Given the description of an element on the screen output the (x, y) to click on. 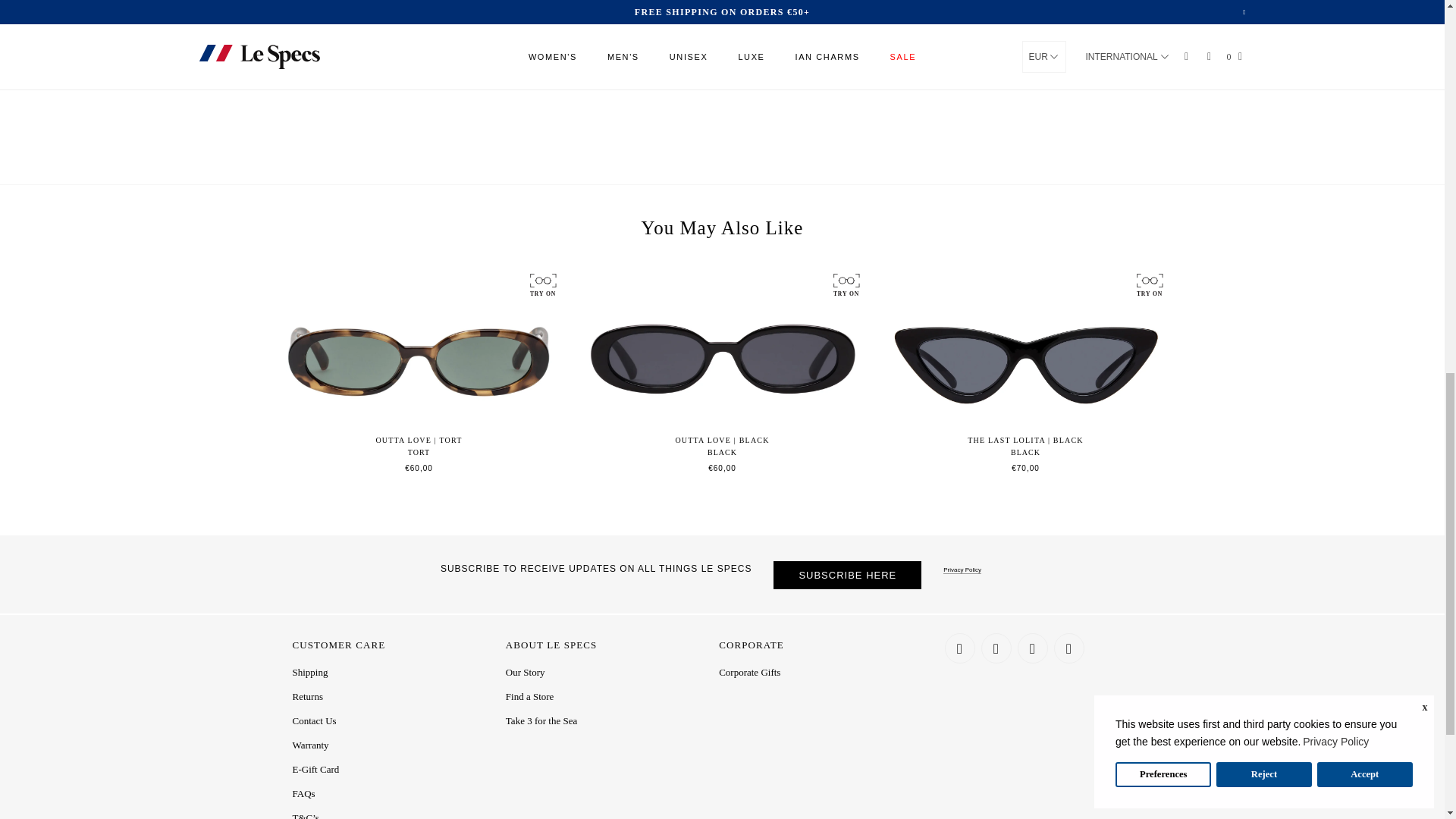
TRY ON (844, 284)
TRY ON (1147, 284)
TRY ON (541, 284)
